Given the description of an element on the screen output the (x, y) to click on. 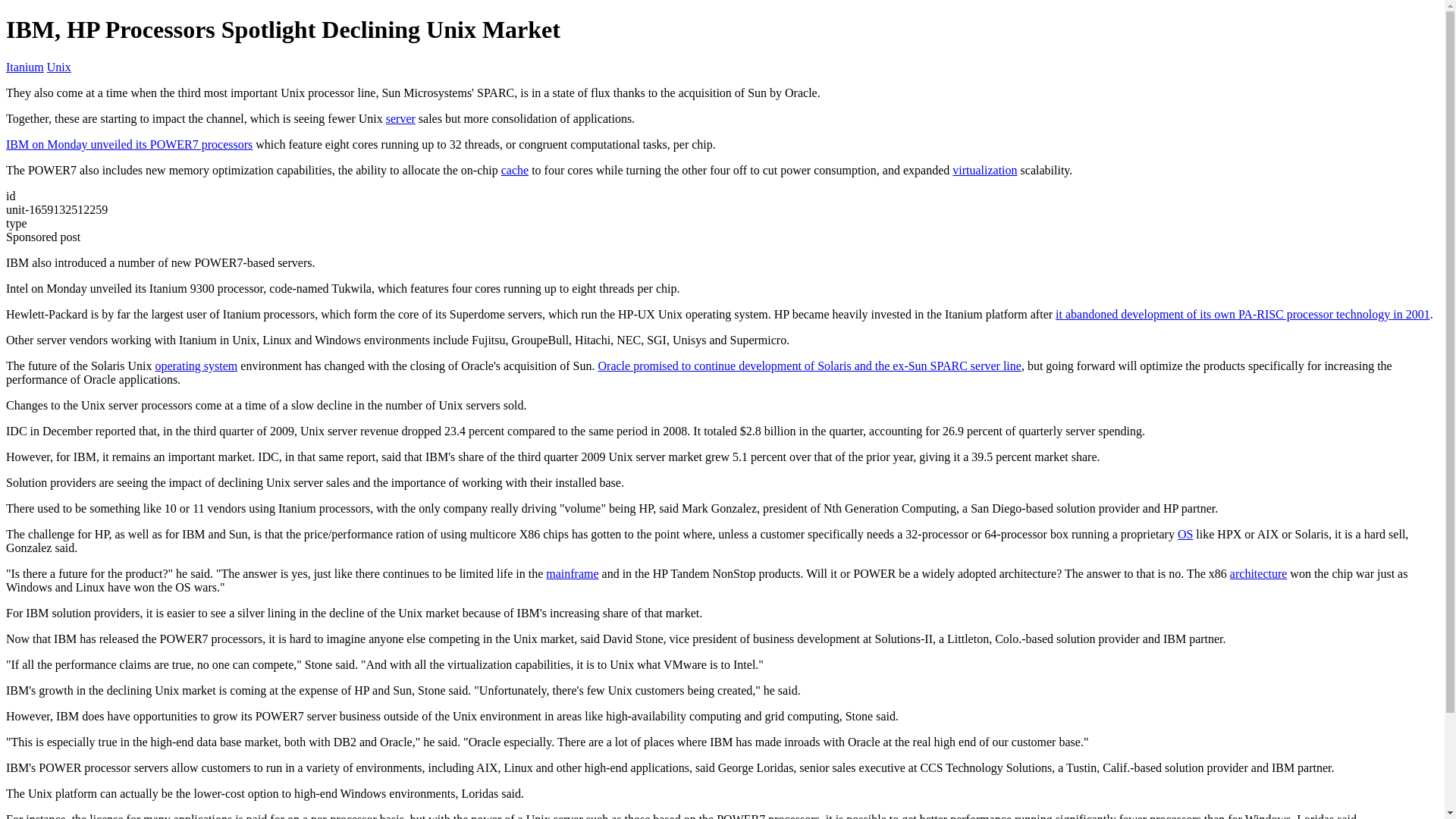
IBM on Monday unveiled its POWER7 processors (128, 144)
cache (514, 169)
operating system (195, 365)
virtualization (984, 169)
architecture (1258, 573)
server (399, 118)
Unix (58, 66)
Itanium (24, 66)
OS (1184, 533)
mainframe (572, 573)
